Given the description of an element on the screen output the (x, y) to click on. 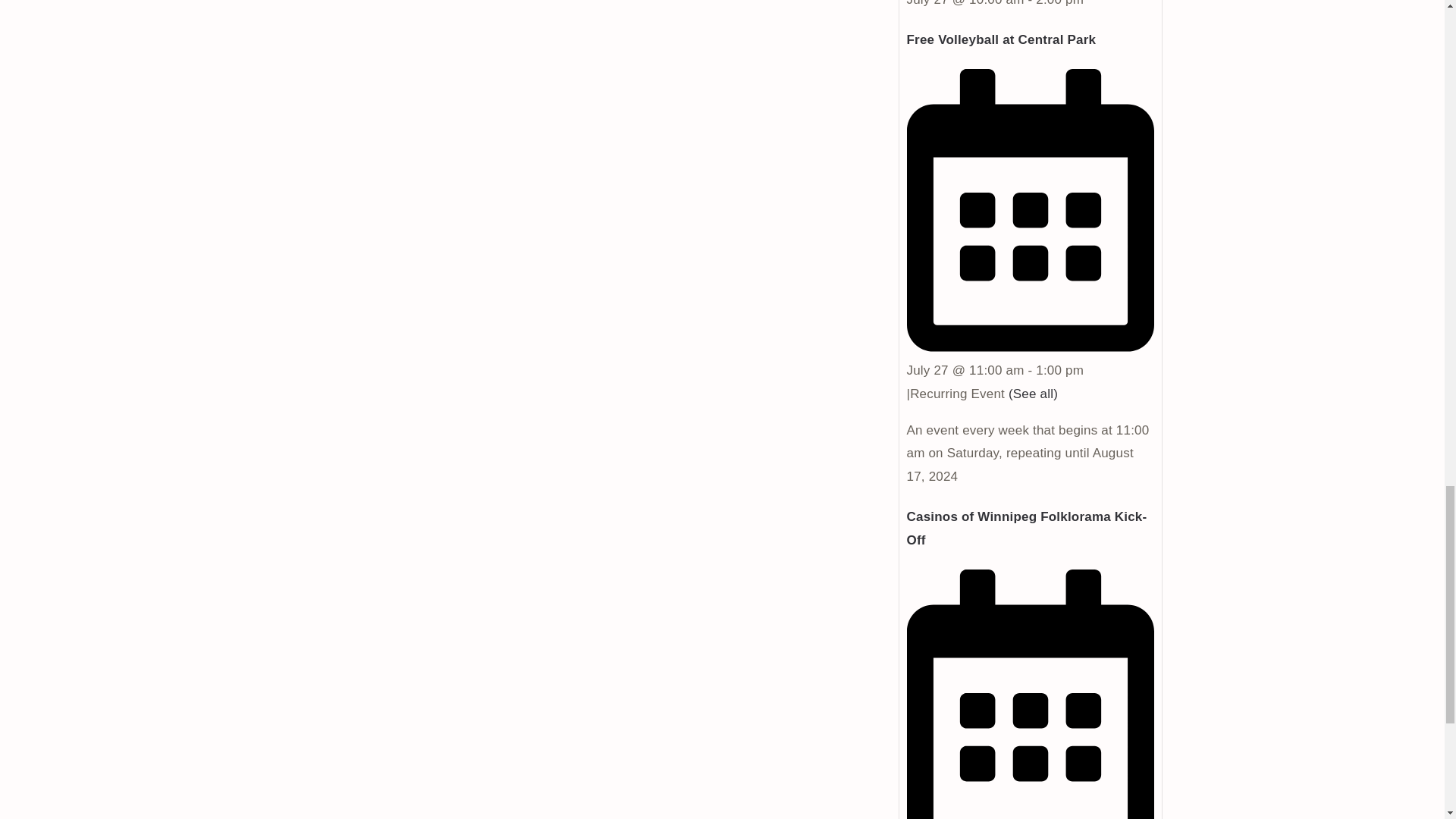
Free Volleyball at Central Park (1001, 39)
Casinos of Winnipeg Folklorama Kick-Off (1027, 528)
